Given the description of an element on the screen output the (x, y) to click on. 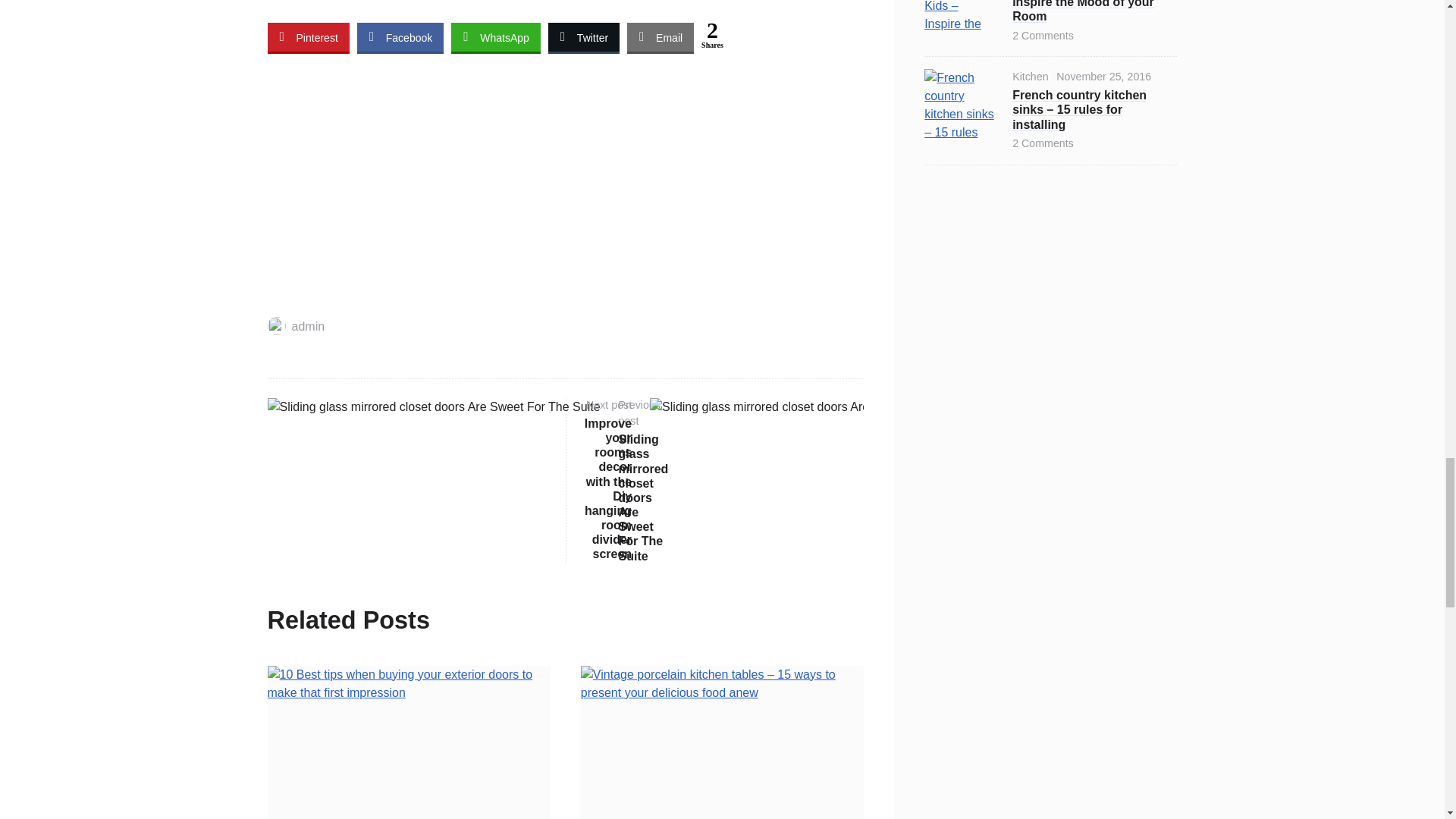
WhatsApp (495, 36)
Email (660, 36)
Pinterest (308, 36)
Facebook (400, 36)
Twitter (584, 36)
admin (295, 326)
